Given the description of an element on the screen output the (x, y) to click on. 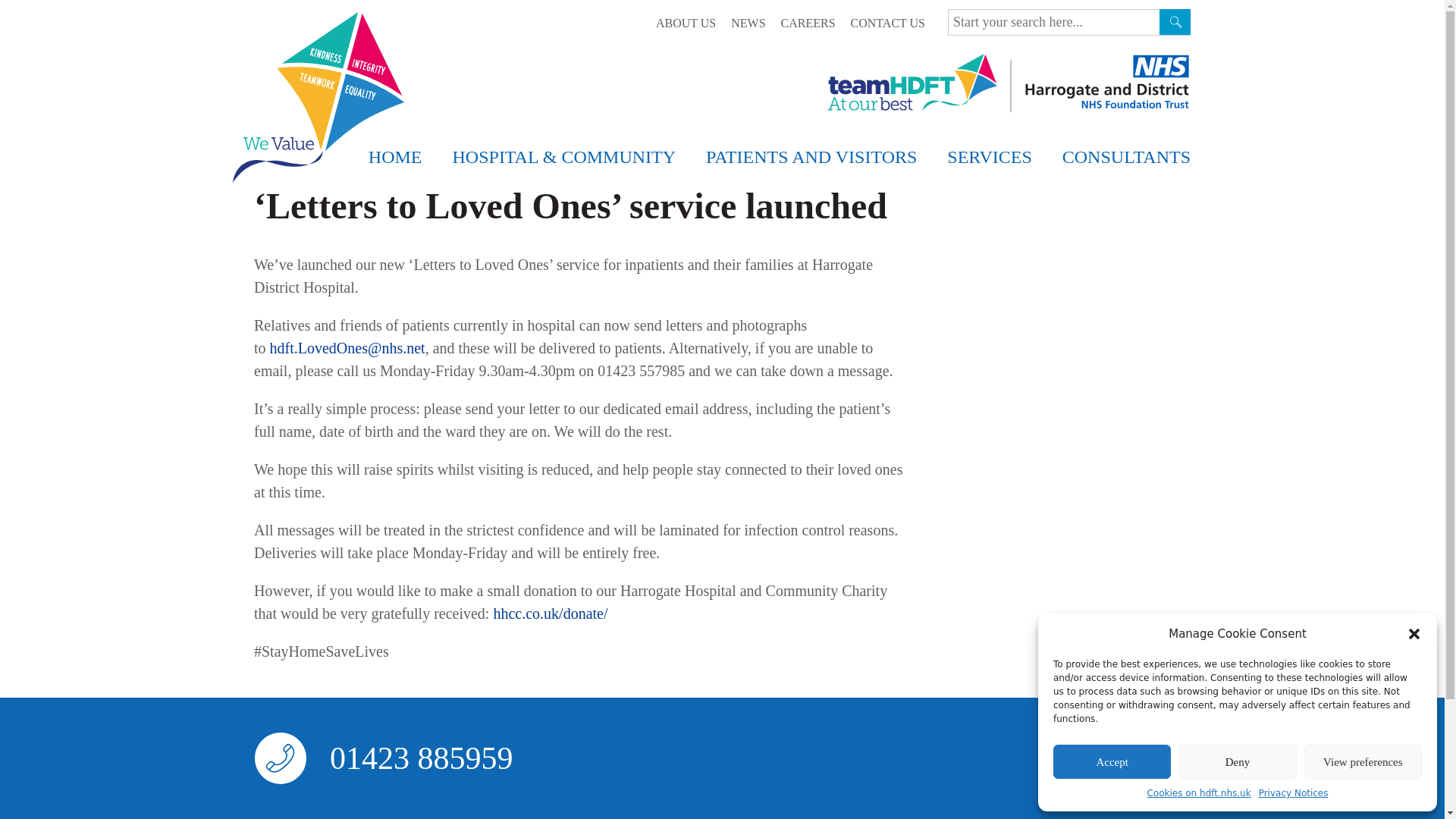
View preferences (1363, 761)
Deny (1236, 761)
Cookies on hdft.nhs.uk (1198, 793)
Accept (1111, 761)
Privacy Notices (1293, 793)
